Given the description of an element on the screen output the (x, y) to click on. 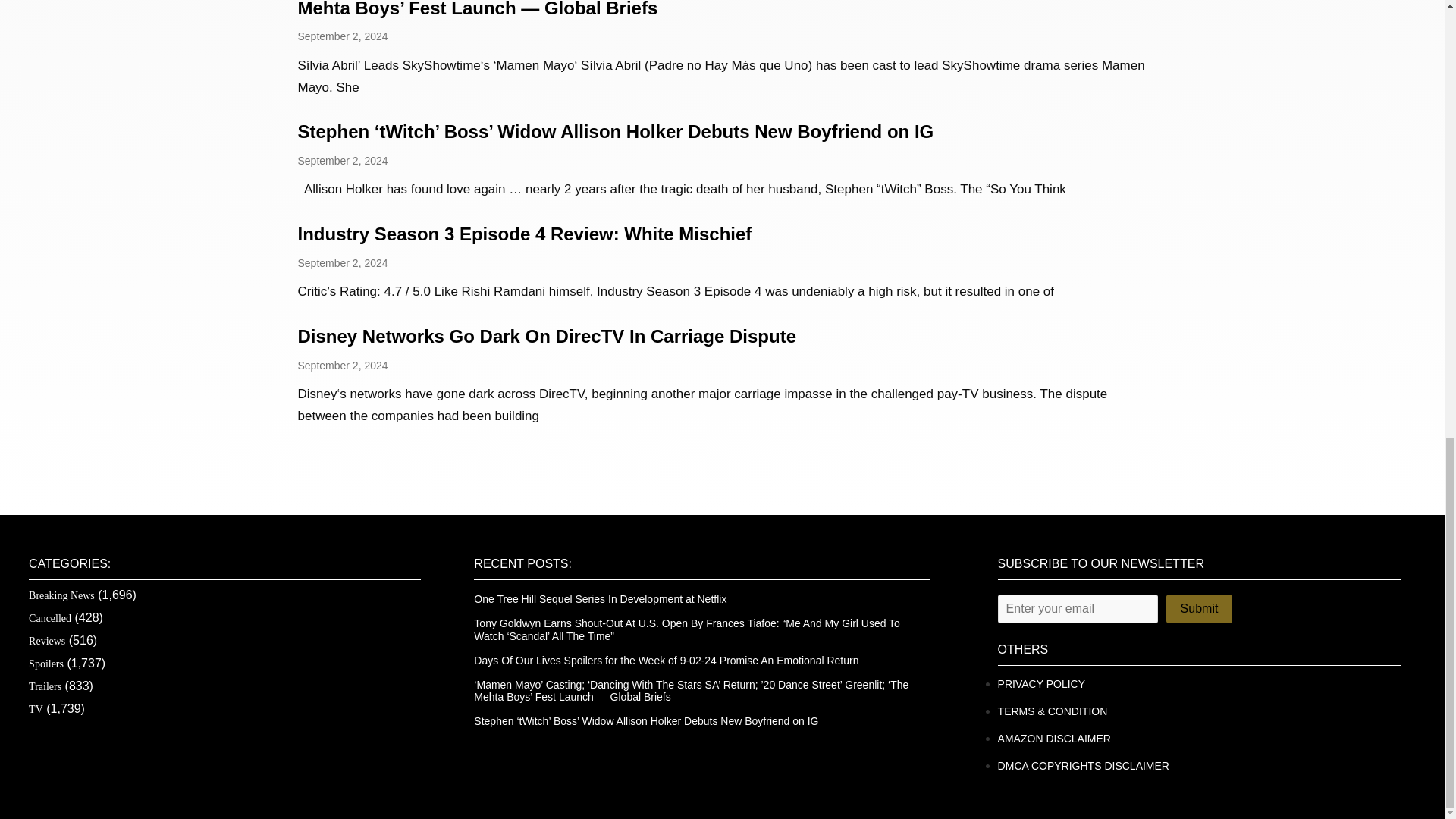
Industry Season 3 Episode 4 Review: White Mischief (524, 233)
Spoilers (46, 663)
Trailers (45, 686)
Disney Networks Go Dark On DirecTV In Carriage Dispute (546, 335)
Breaking News (61, 595)
Cancelled (50, 618)
Reviews (47, 641)
